Given the description of an element on the screen output the (x, y) to click on. 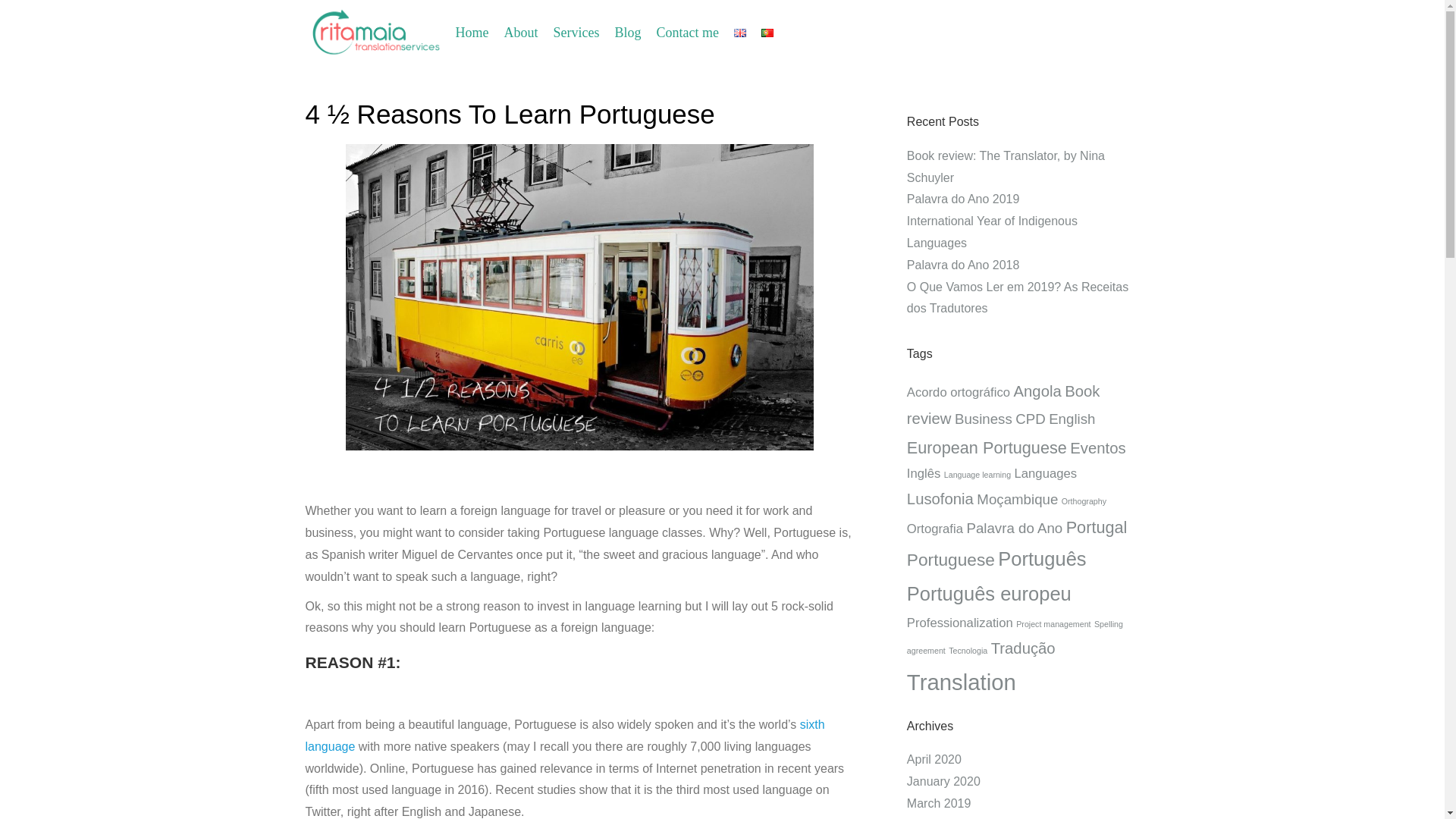
Blog (627, 31)
sixth language (564, 735)
Business (983, 418)
CPD (1029, 418)
Book review: The Translator, by Nina Schuyler (1006, 166)
Book review (1003, 405)
Contact me (686, 31)
English (1071, 418)
Eventos (1097, 447)
Palavra do Ano 2018 (963, 264)
Services (575, 31)
Home (471, 31)
About (520, 31)
Palavra do Ano 2019 (963, 198)
International Year of Indigenous Languages (992, 231)
